Given the description of an element on the screen output the (x, y) to click on. 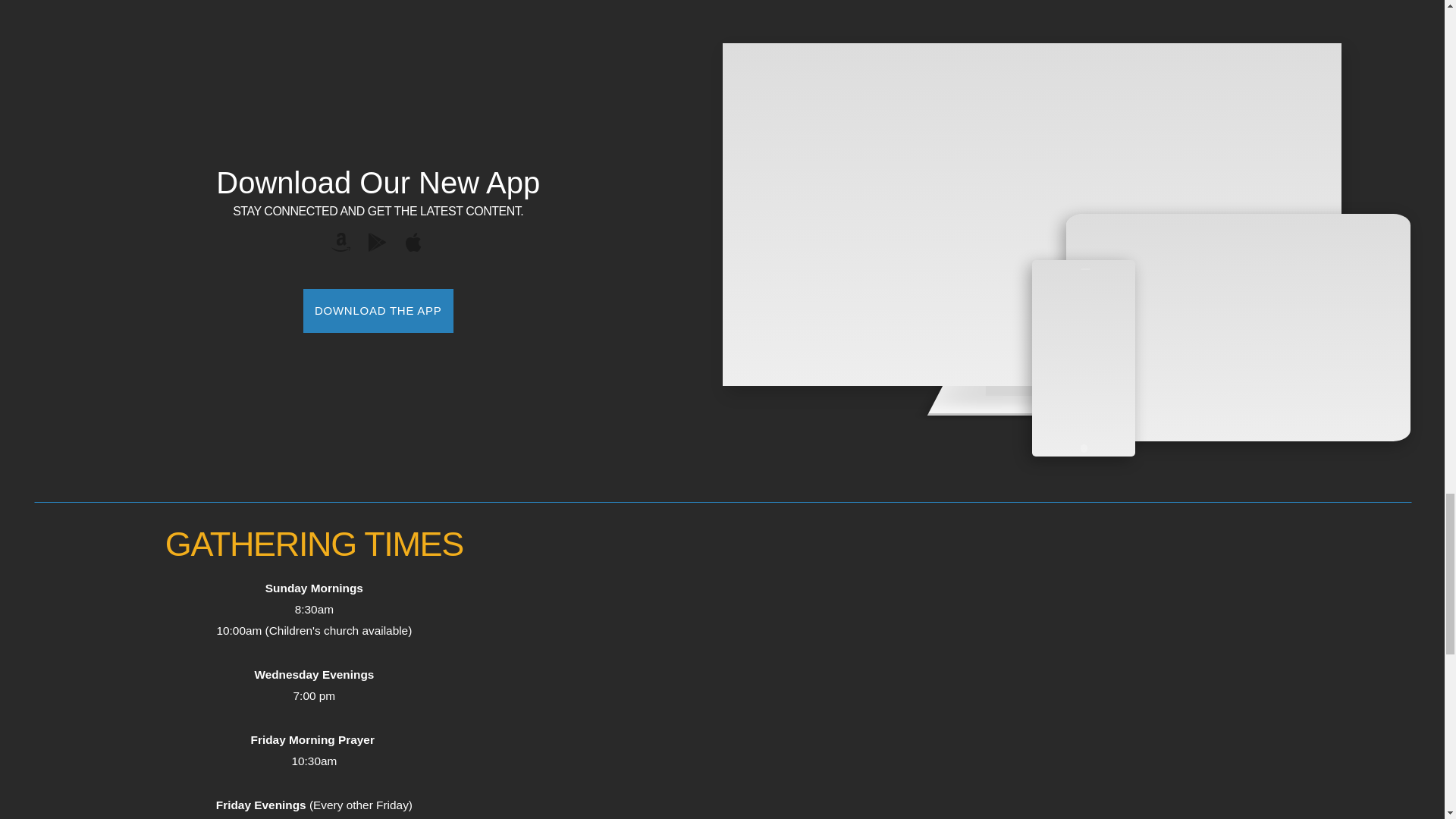
DOWNLOAD THE APP (377, 310)
